Given the description of an element on the screen output the (x, y) to click on. 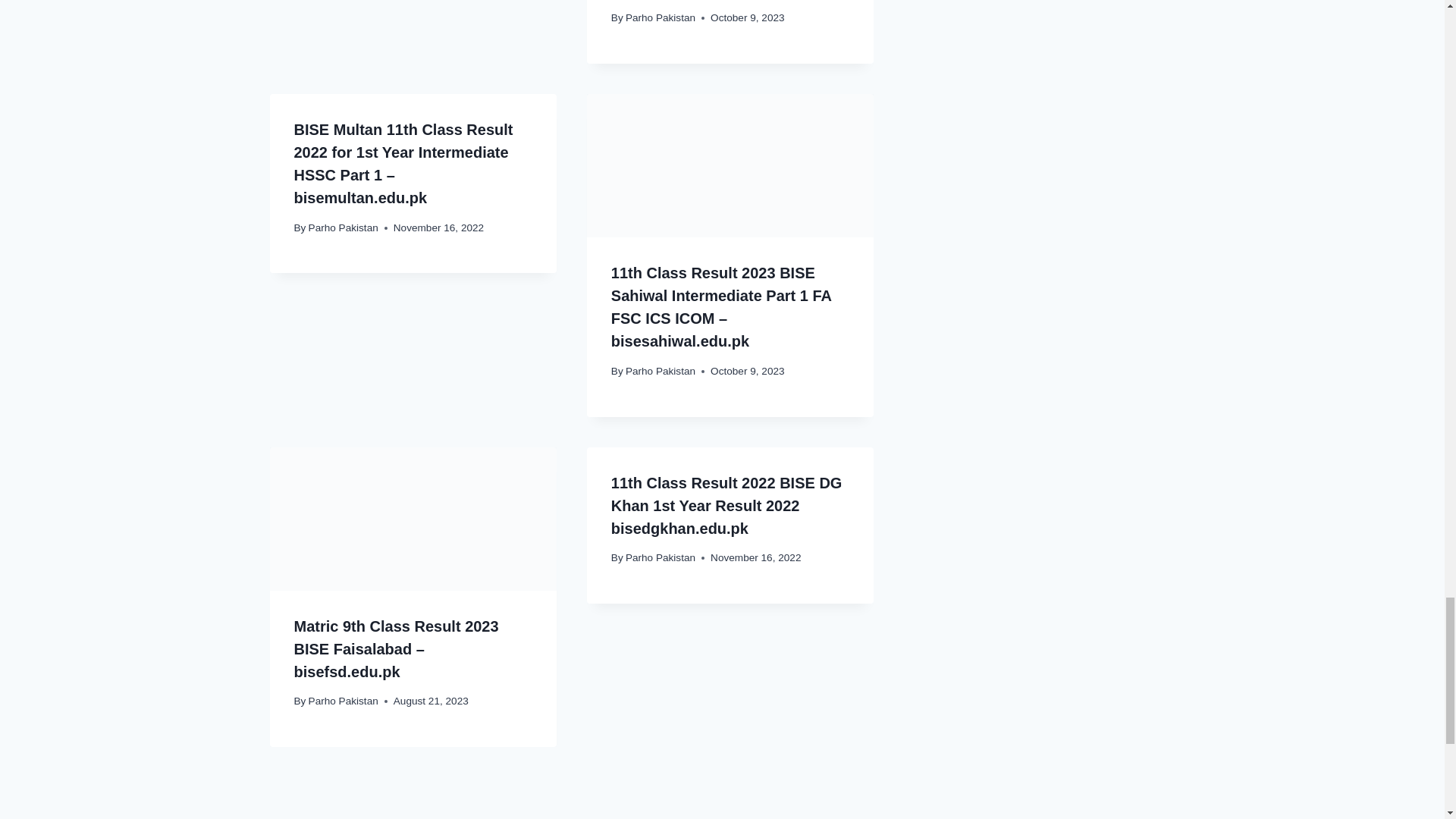
Parho Pakistan (343, 227)
Parho Pakistan (660, 370)
Parho Pakistan (660, 17)
